Given the description of an element on the screen output the (x, y) to click on. 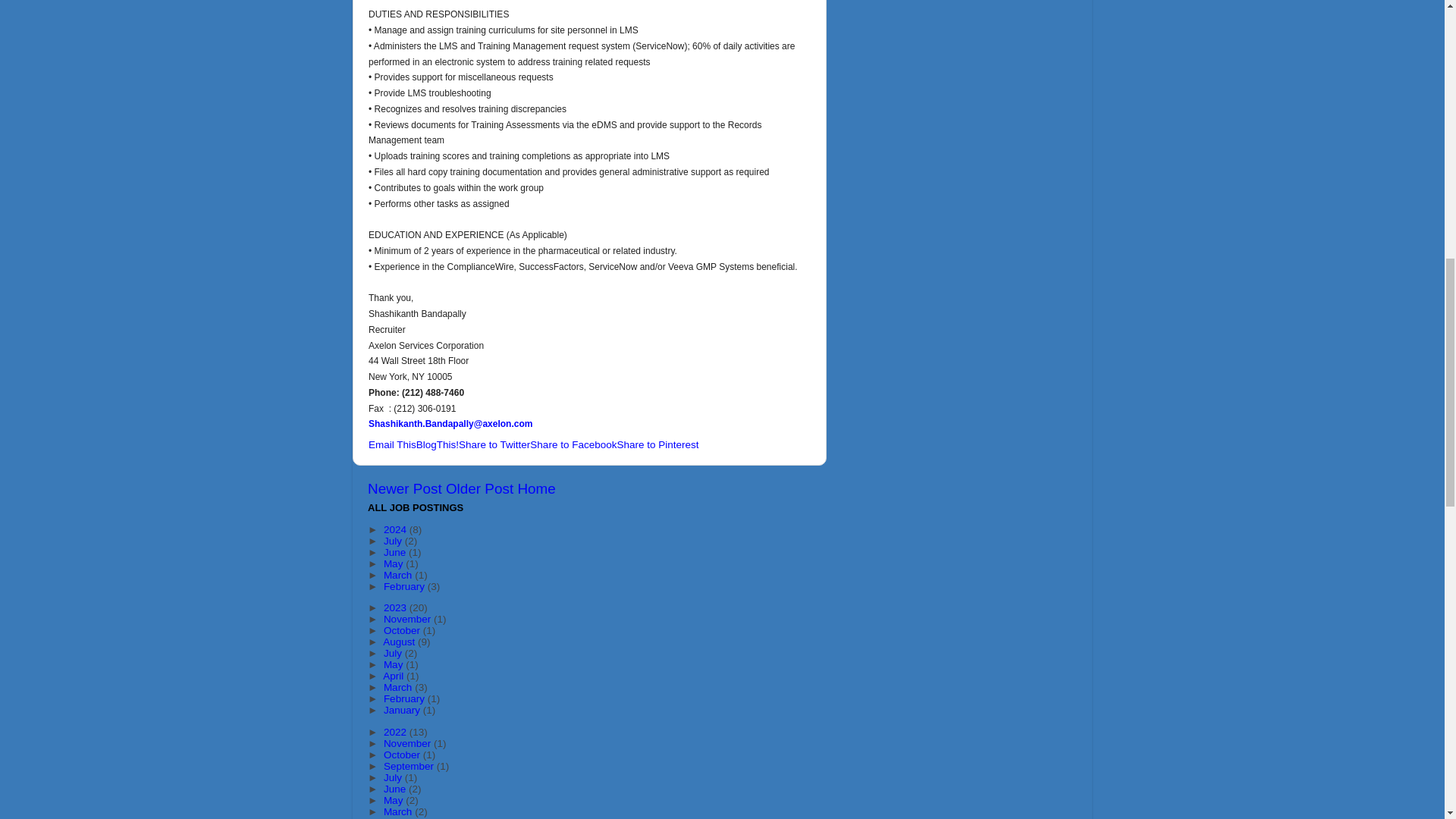
February (406, 586)
Older Post (479, 488)
Newer Post (405, 488)
2024 (396, 529)
Email This (392, 444)
BlogThis! (437, 444)
June (396, 552)
August (399, 641)
Older Post (479, 488)
Email This (392, 444)
